Given the description of an element on the screen output the (x, y) to click on. 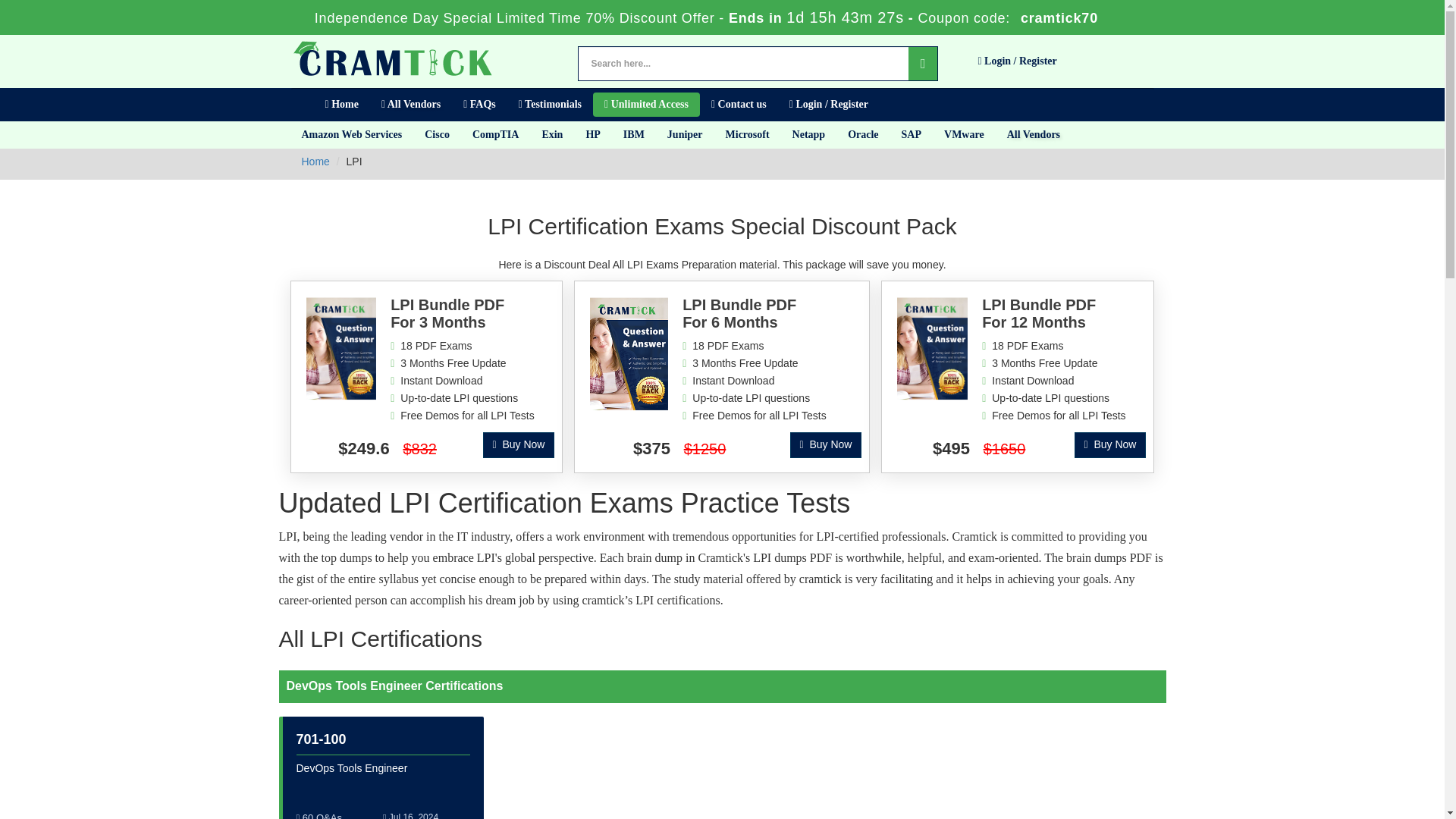
VMware (964, 134)
IBM (633, 134)
All Vendors (1033, 134)
All Vendors (410, 104)
SAP (911, 134)
Amazon Web Services (351, 134)
Cisco (437, 134)
Netapp (808, 134)
CompTIA (495, 134)
Home (341, 104)
 Buy Now (518, 444)
Home (315, 161)
Microsoft (747, 134)
701-100 (320, 739)
Testimonials (549, 104)
